Given the description of an element on the screen output the (x, y) to click on. 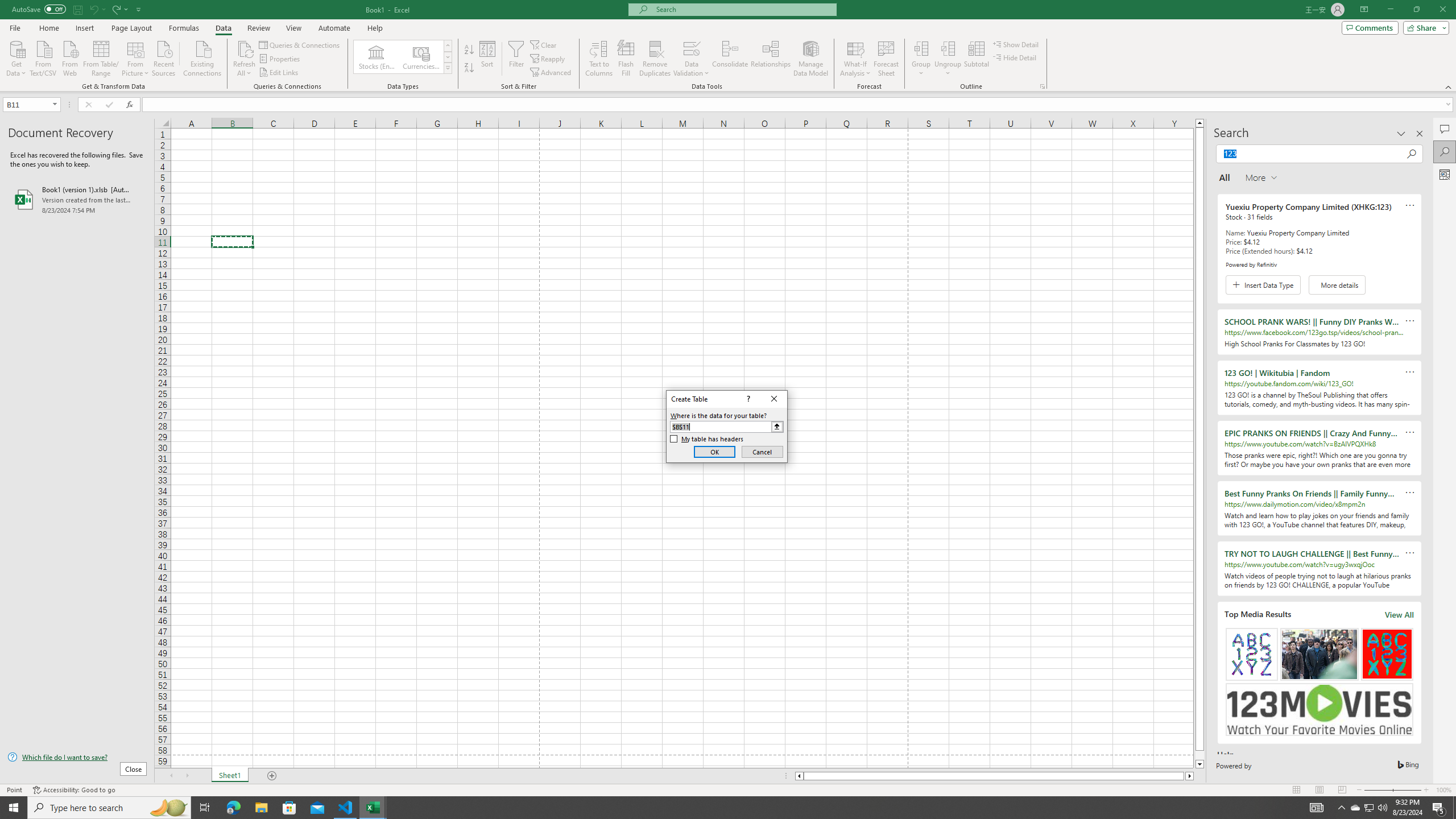
Remove Duplicates (654, 58)
Q2790: 100% (1382, 807)
Notification Chevron (1341, 807)
From Picture (135, 57)
Manage Data Model (810, 58)
Task View (204, 807)
Text to Columns... (598, 58)
Flash Fill (625, 58)
Show desktop (1454, 807)
Book1 (version 1).xlsb  [AutoRecovered] (77, 199)
Existing Connections (202, 57)
